Given the description of an element on the screen output the (x, y) to click on. 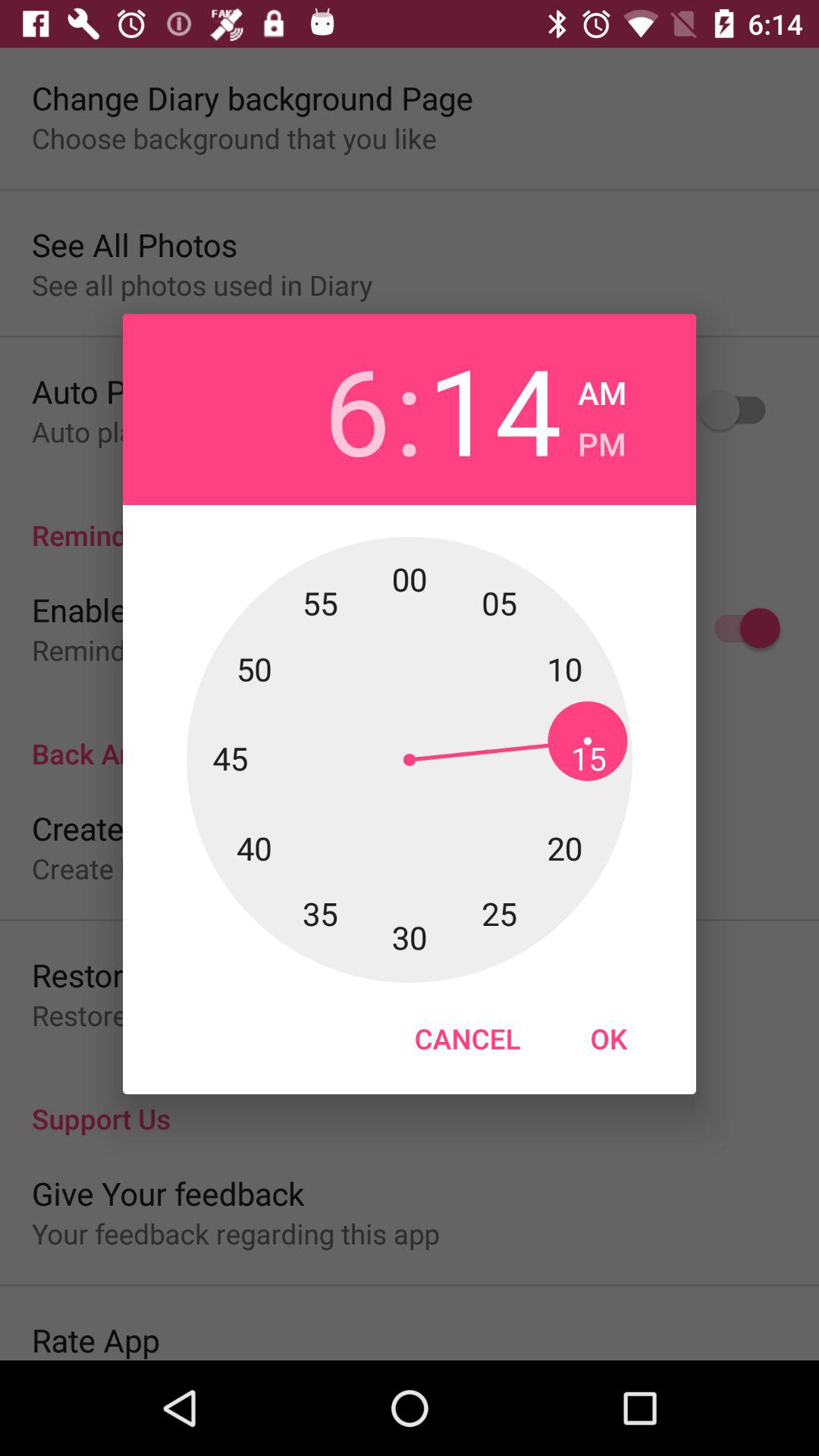
flip to the am icon (601, 388)
